Given the description of an element on the screen output the (x, y) to click on. 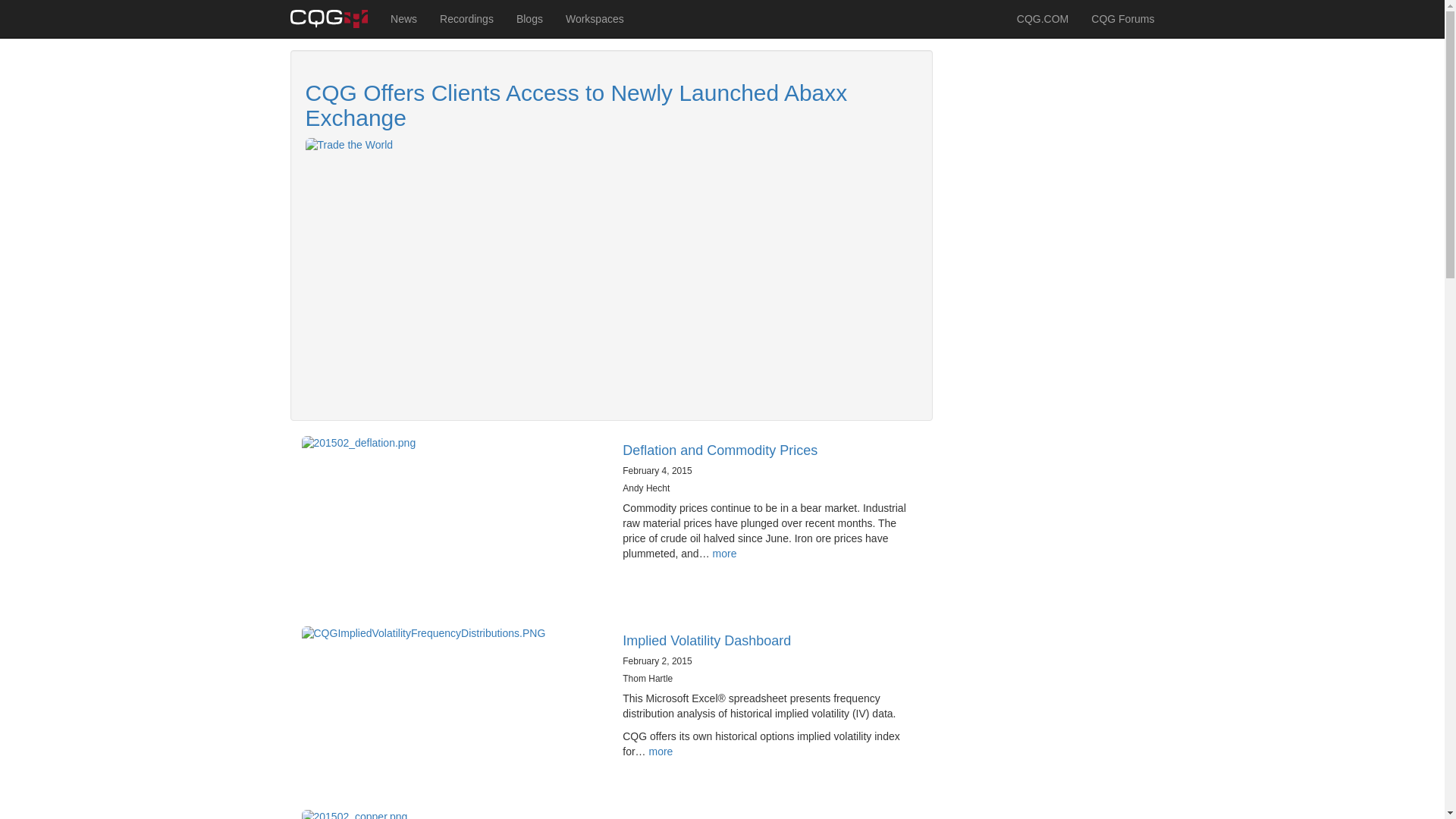
CQG.COM (1043, 18)
more (659, 751)
Workspaces (594, 18)
Implied Volatility Dashboard (706, 640)
Home (333, 18)
Recordings (466, 18)
CQG Forums (1123, 18)
Deflation and Commodity Prices (719, 450)
News (403, 18)
